Given the description of an element on the screen output the (x, y) to click on. 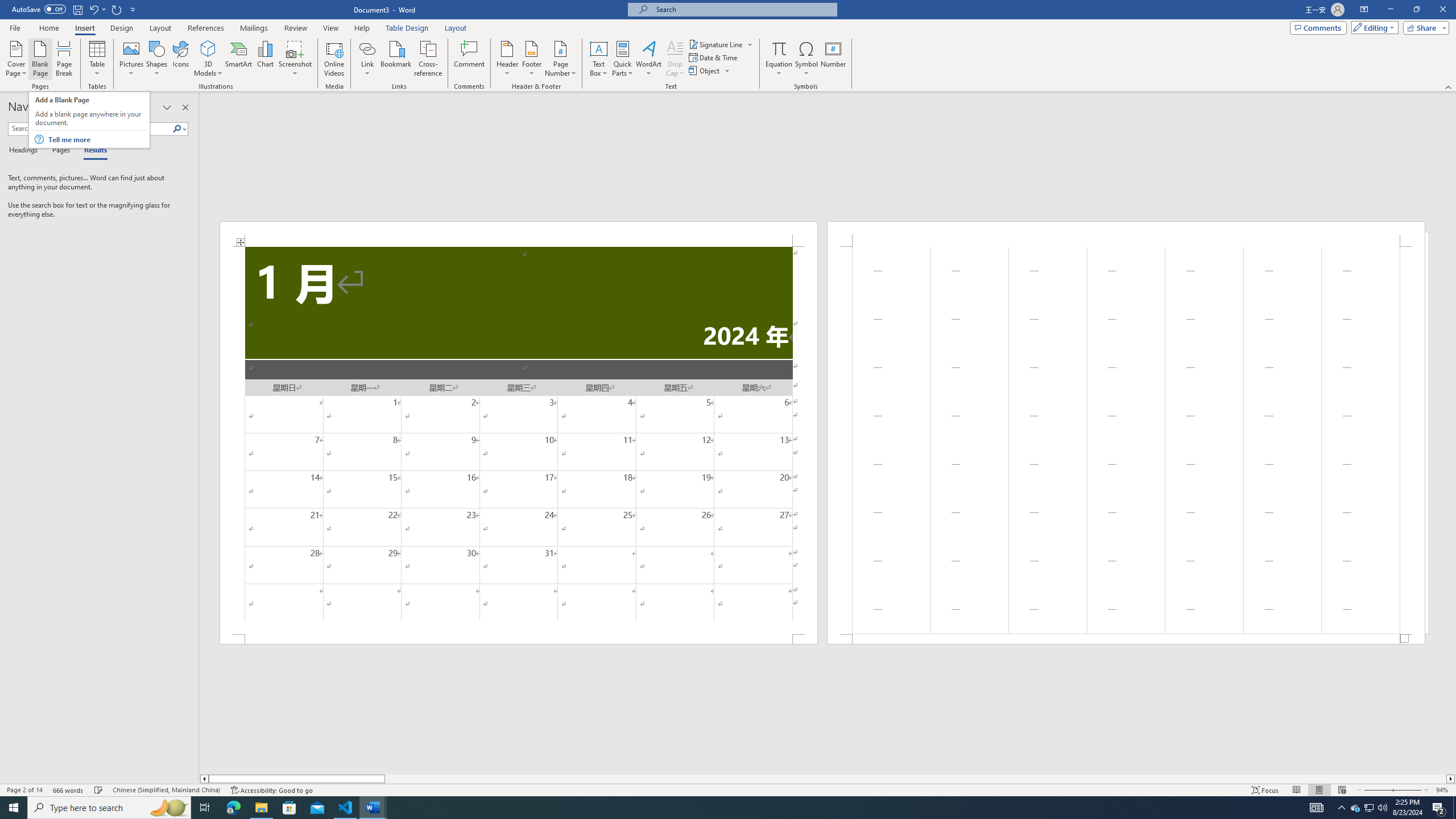
Column left (203, 778)
Comment (469, 58)
Object... (705, 69)
WordArt (648, 58)
Page 2 content (1126, 439)
Date & Time... (714, 56)
